Given the description of an element on the screen output the (x, y) to click on. 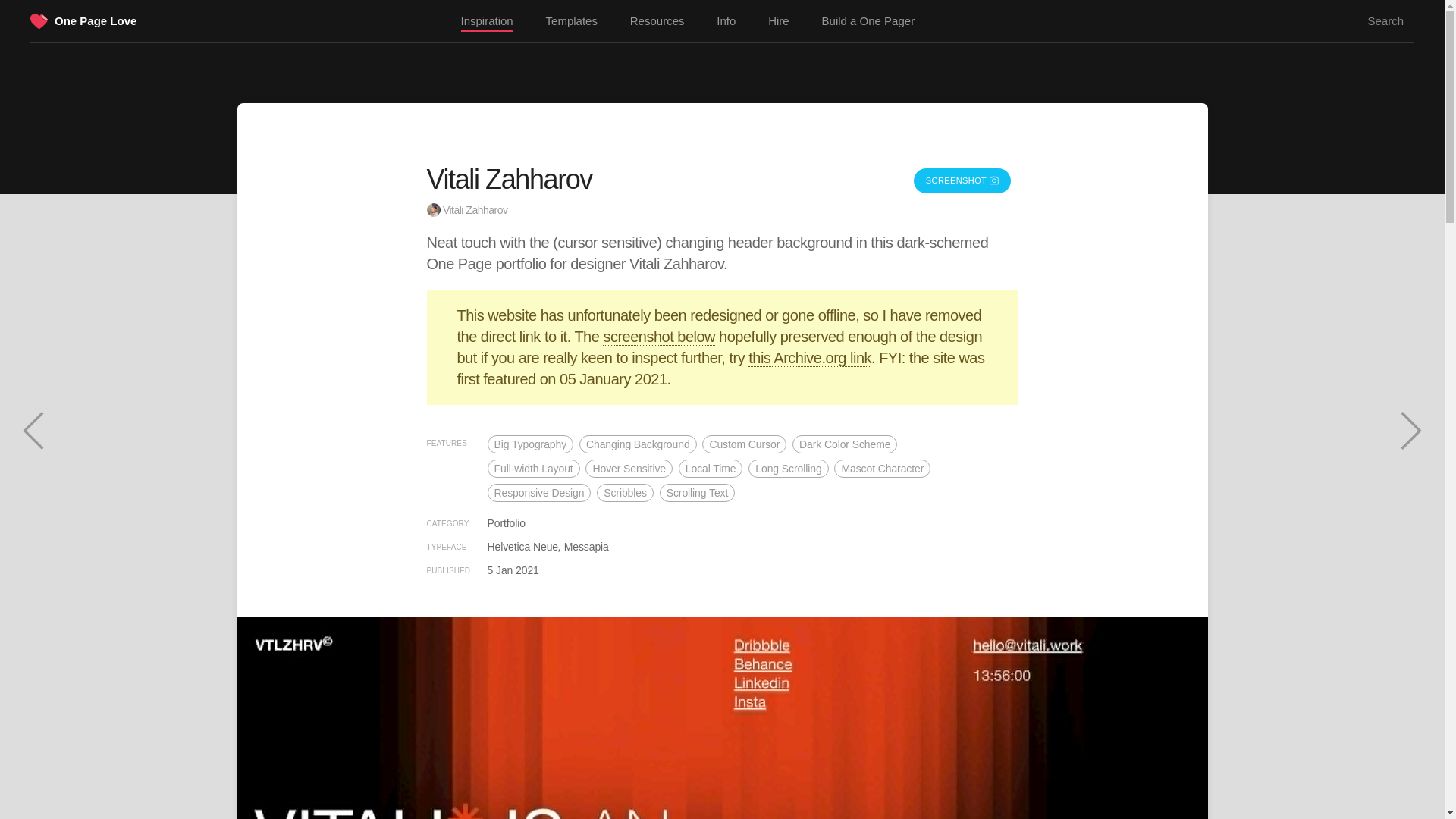
Go to the One Page Love home page (95, 20)
Go to the One Page Love home page (39, 22)
One Page Love (95, 20)
Inspiration (486, 22)
One Page website inspiration gallery (486, 22)
Find One Page website templates (571, 21)
